Given the description of an element on the screen output the (x, y) to click on. 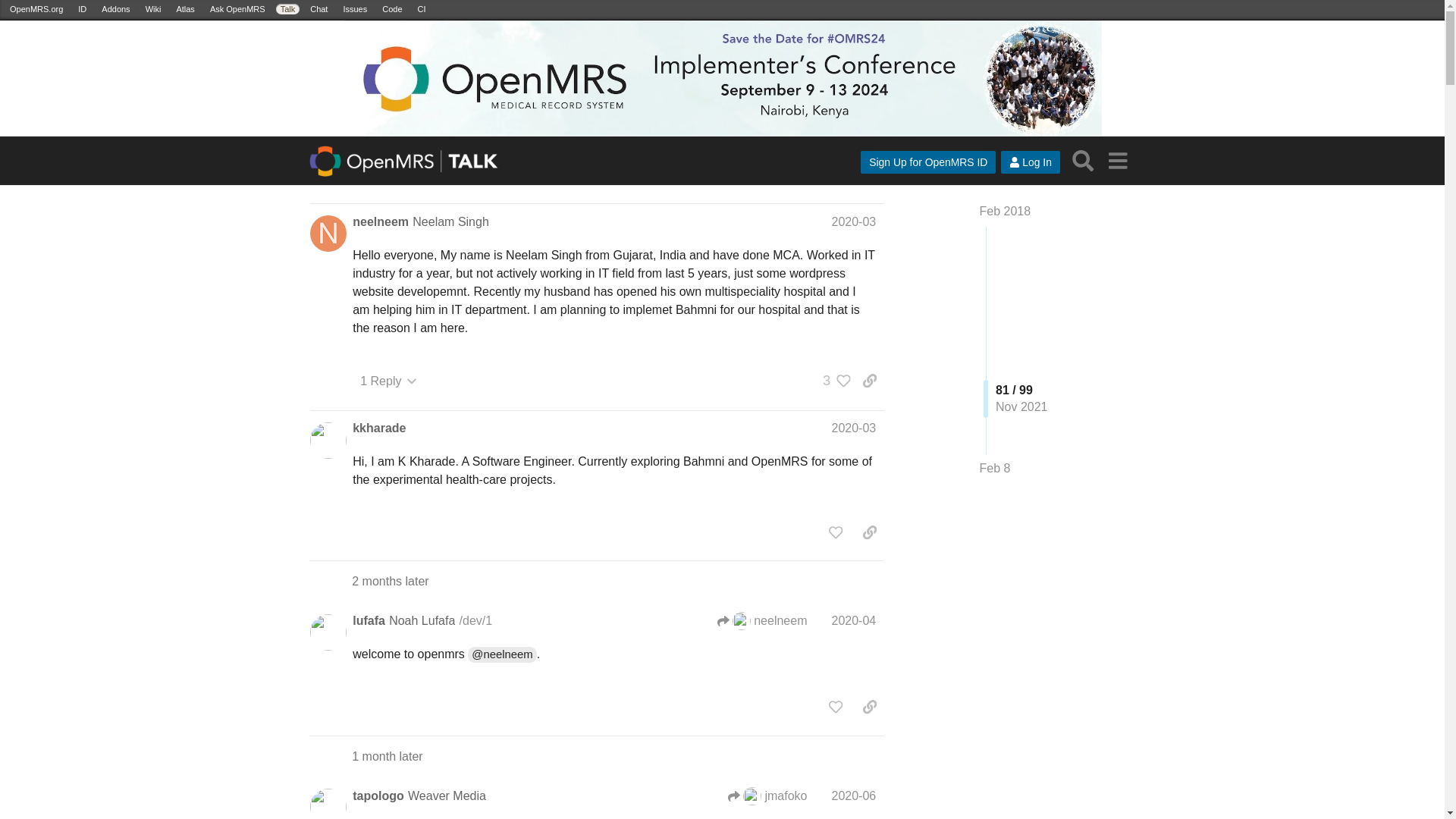
neelneem (380, 221)
Addons (115, 8)
menu (1117, 161)
Wiki (153, 8)
Jump to the last post (994, 468)
Jump to the first post (1004, 210)
Sign Up for OpenMRS ID (927, 161)
Talk (287, 9)
Feb 2018 (1004, 210)
Code (391, 8)
Chat (318, 8)
search topics, posts, members, or categories (1082, 161)
Ask OpenMRS (236, 8)
Feb 8 (994, 468)
Log In (1030, 161)
